Given the description of an element on the screen output the (x, y) to click on. 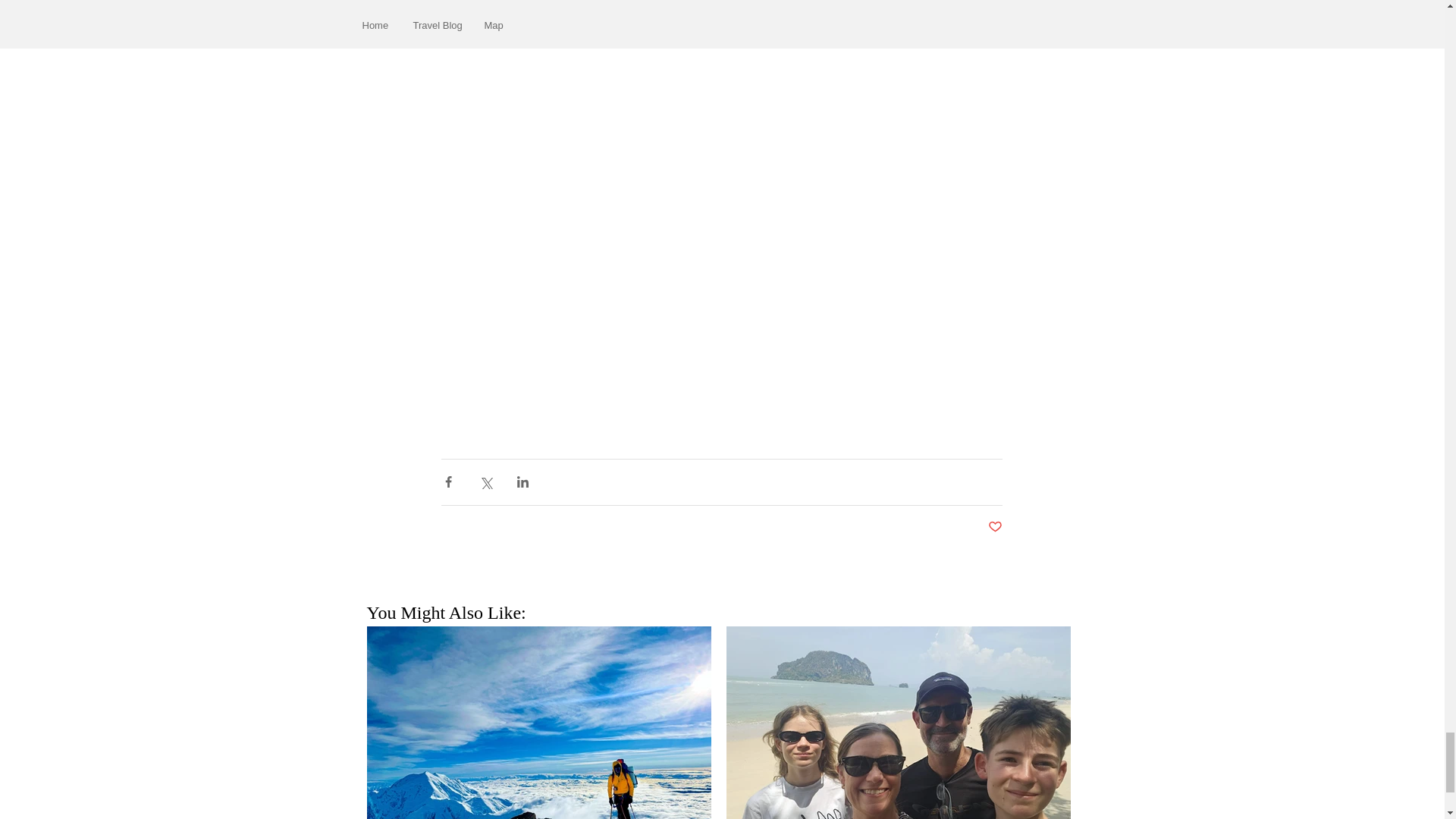
Post not marked as liked (994, 526)
